Given the description of an element on the screen output the (x, y) to click on. 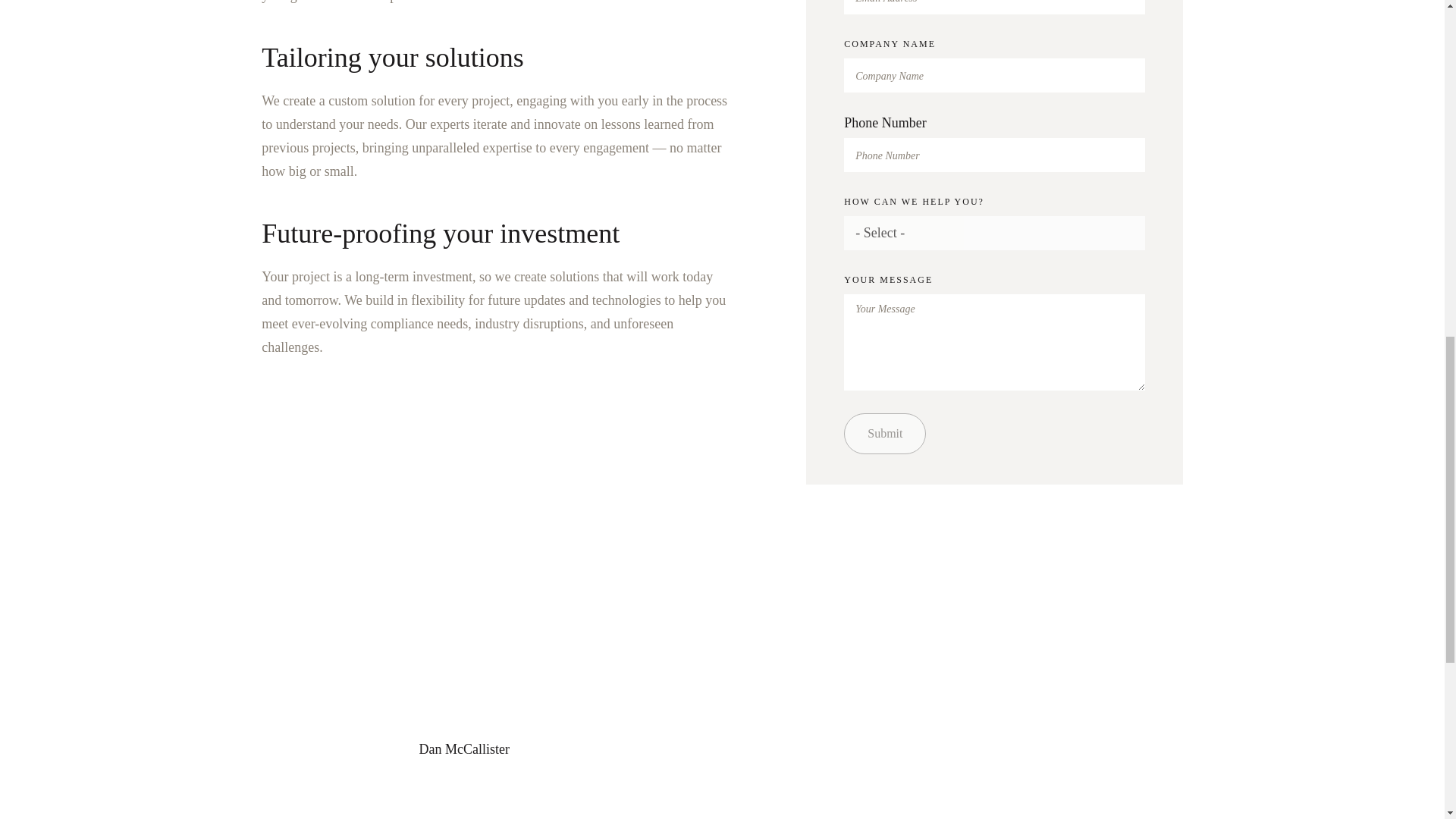
Submit (885, 433)
